Given the description of an element on the screen output the (x, y) to click on. 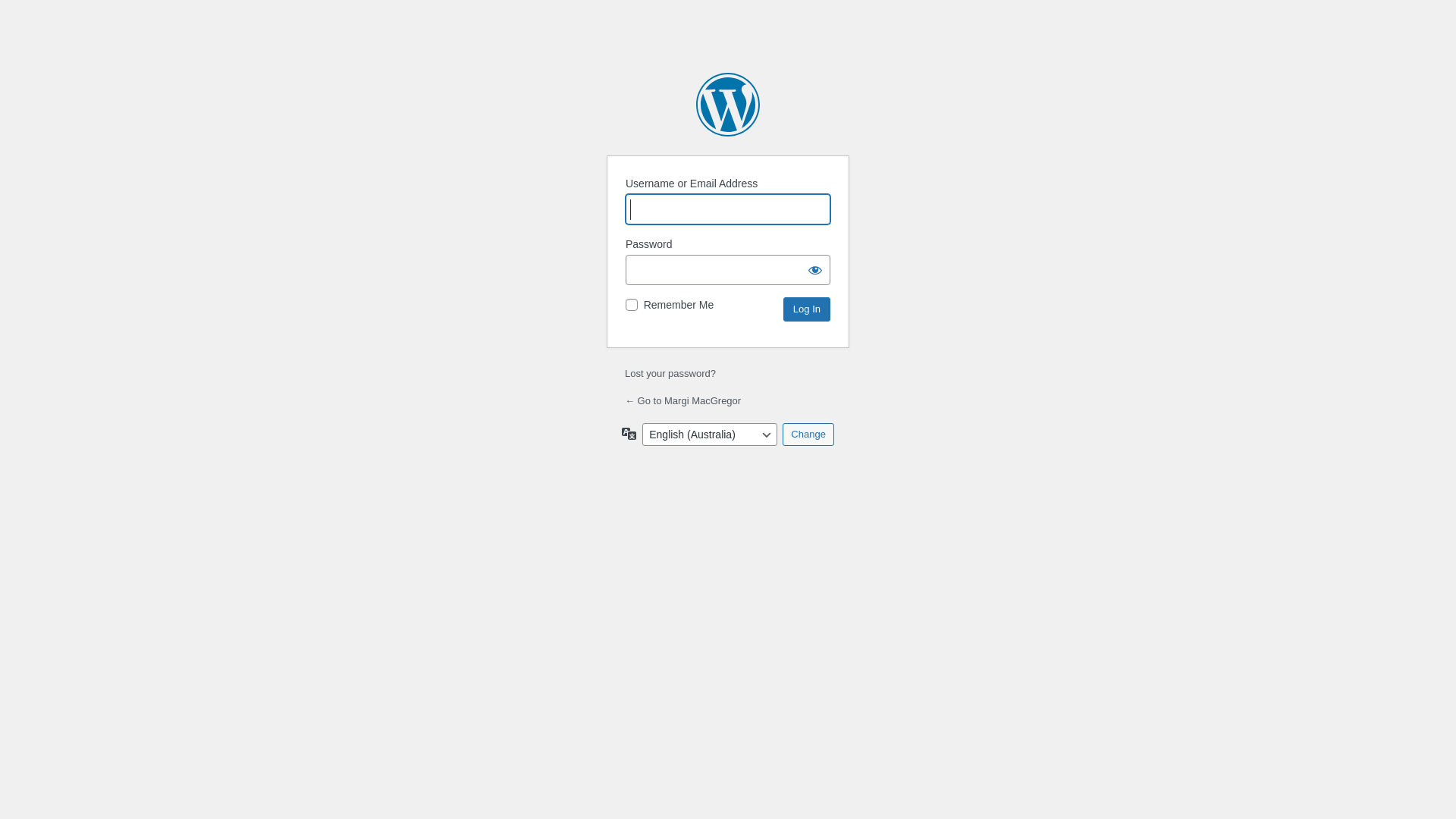
Change Element type: text (808, 434)
Log In Element type: text (806, 309)
Powered by WordPress Element type: text (727, 104)
Lost your password? Element type: text (669, 373)
